Given the description of an element on the screen output the (x, y) to click on. 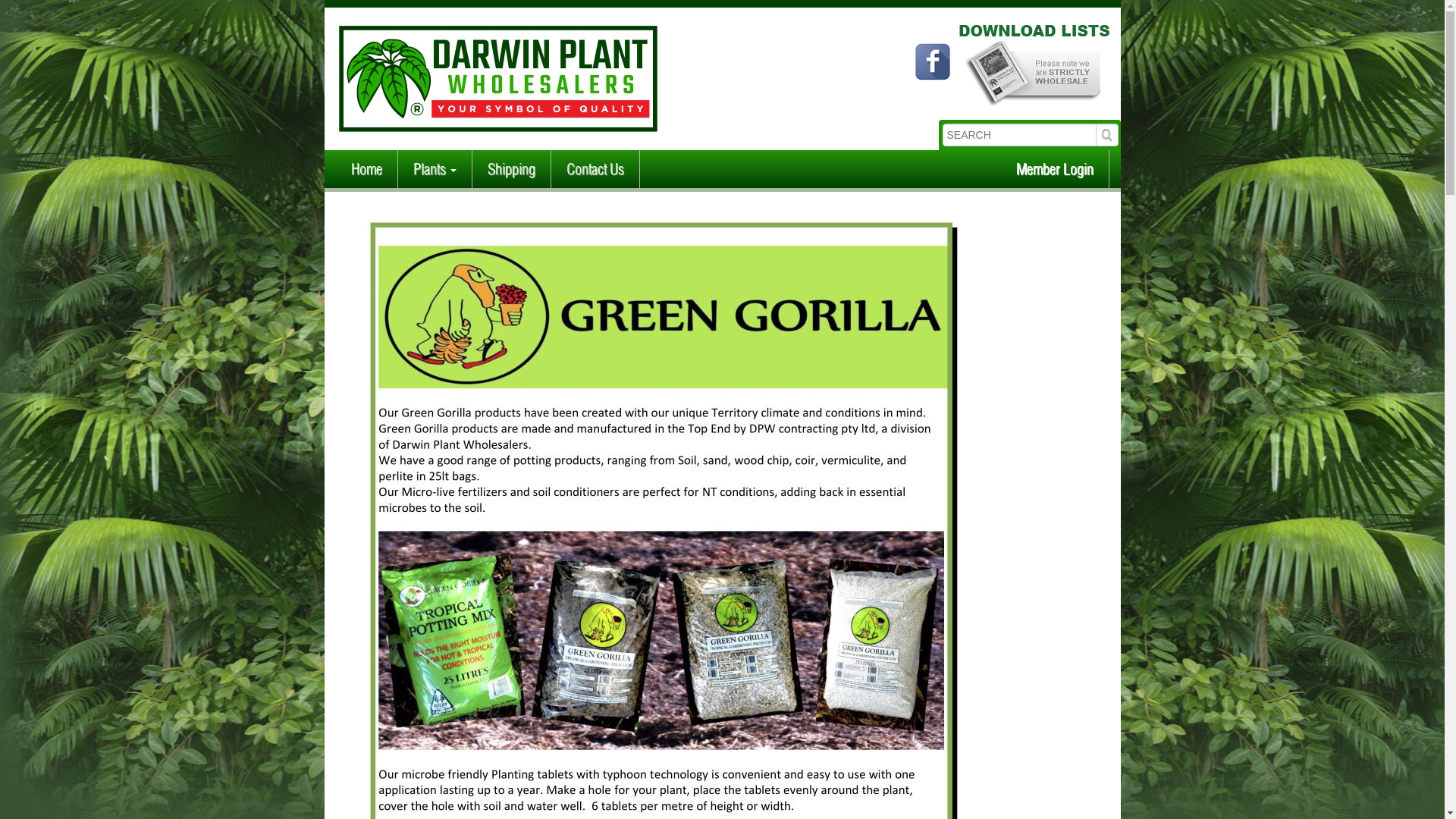
Shipping Element type: text (510, 169)
Home Element type: text (365, 169)
Member Login Element type: text (1054, 169)
Contact Us Element type: text (594, 169)
Plants Element type: text (433, 169)
